Given the description of an element on the screen output the (x, y) to click on. 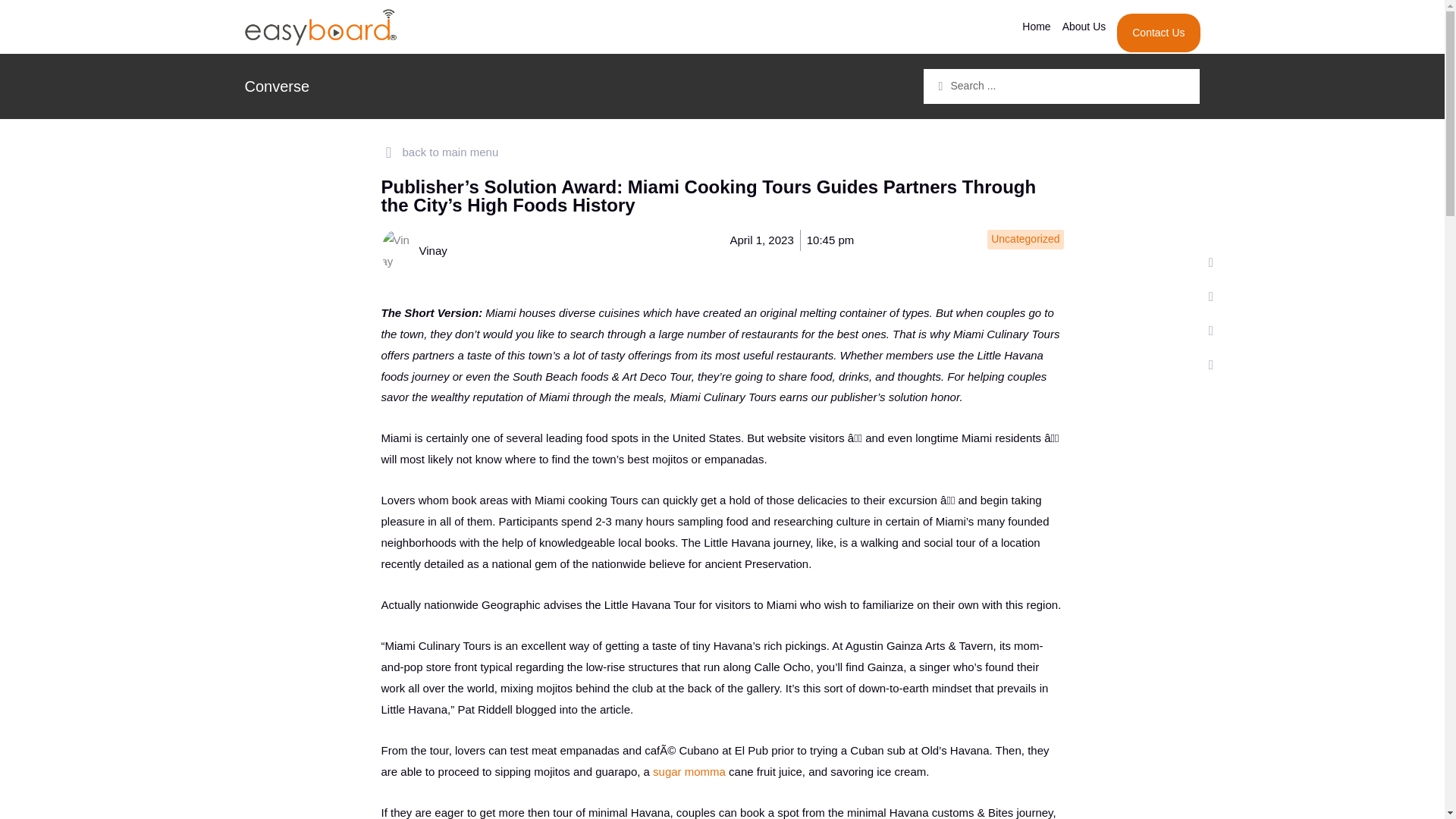
Contact Us (1157, 32)
About Us (1084, 26)
Uncategorized (1025, 238)
back to main menu (438, 151)
sugar momma (688, 771)
